Given the description of an element on the screen output the (x, y) to click on. 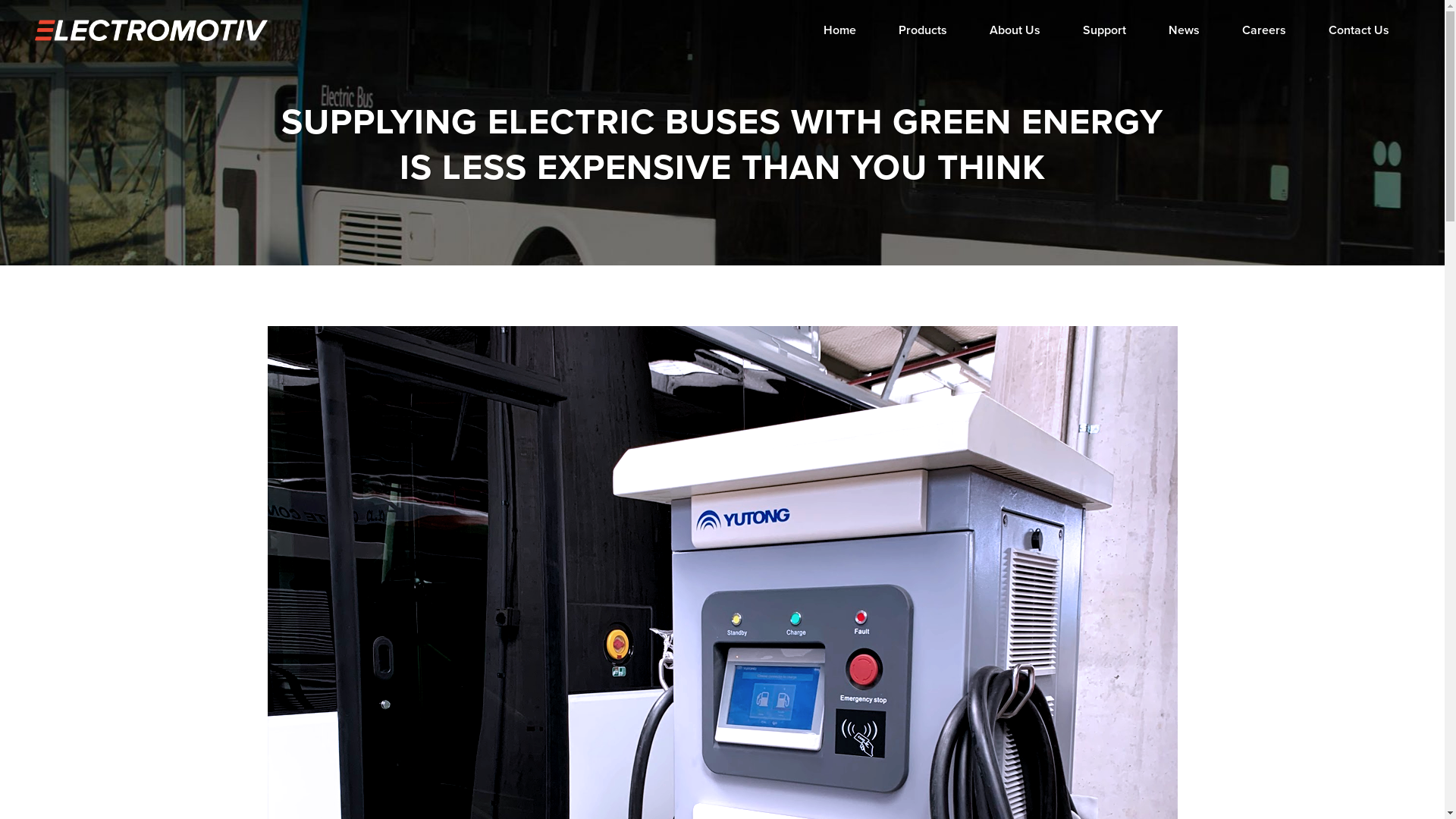
Contact Us Element type: text (841, 739)
Leasing and Finance Element type: text (611, 639)
Charging and Refuelling Stations Element type: text (611, 614)
Electric and Hydrogen Buses Element type: text (611, 589)
Products Element type: text (841, 614)
Contact Us Element type: text (1358, 30)
Home Element type: text (841, 589)
Generating Your Own Power Element type: text (611, 689)
Reducing Costs, Reducing Carbon Element type: text (611, 664)
Home Element type: text (839, 30)
Support Element type: text (1104, 30)
About Us Element type: text (841, 639)
Careers Element type: text (1263, 30)
info@electromotiv.com.au Element type: text (1034, 706)
Products Element type: text (922, 30)
News Element type: text (841, 689)
Support Element type: text (841, 664)
About Us Element type: text (1014, 30)
News Element type: text (1183, 30)
Careers Element type: text (841, 714)
